Given the description of an element on the screen output the (x, y) to click on. 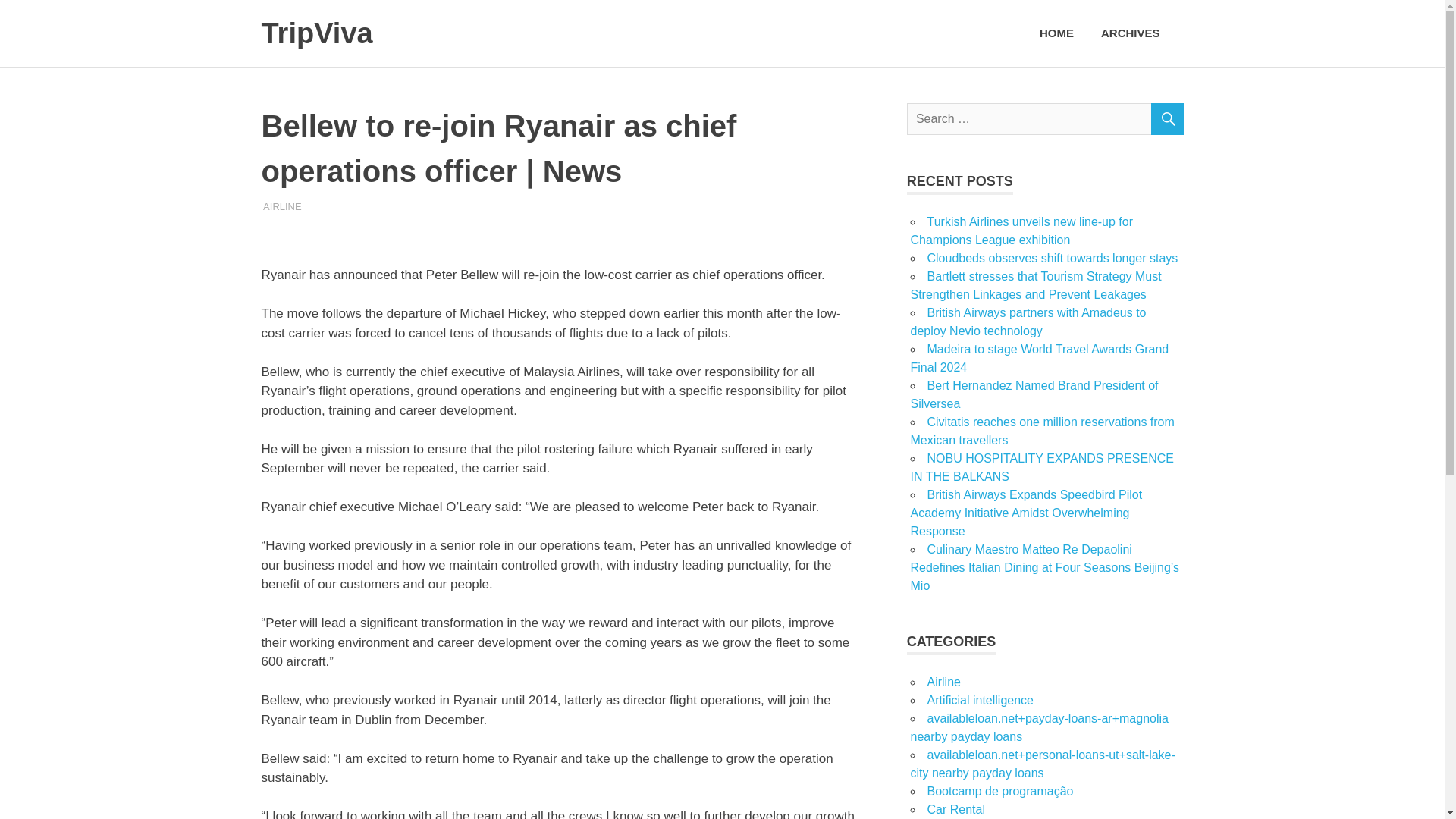
TripViva (316, 33)
ADMIN (279, 205)
Search for: (1045, 119)
Airline (942, 681)
HOME (1056, 33)
ARCHIVES (1135, 33)
Cloudbeds observes shift towards longer stays (1051, 257)
8:08 AM (307, 205)
NOBU HOSPITALITY EXPANDS PRESENCE IN THE BALKANS (1041, 467)
AIRLINE (282, 205)
Bert Hernandez Named Brand President of Silversea (1033, 394)
OCTOBER 17, 2017 (307, 205)
